Given the description of an element on the screen output the (x, y) to click on. 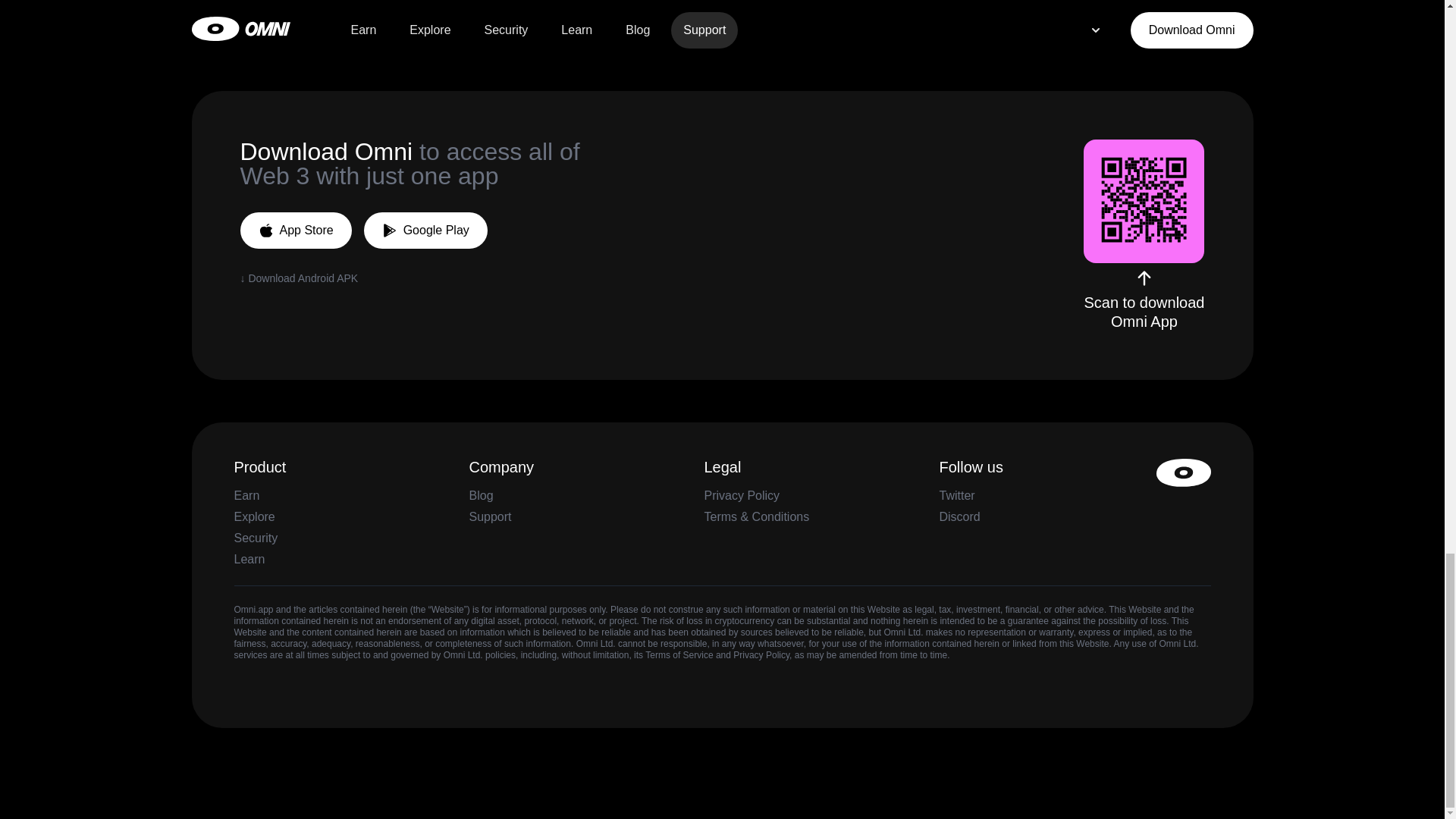
Twitter (956, 495)
App Store (295, 230)
Privacy Policy (740, 495)
Explore (253, 516)
Blog (480, 495)
Privacy Policy (761, 655)
Security (255, 537)
Google Play (425, 230)
Discord (959, 516)
Support (489, 516)
Learn (248, 558)
Earn (245, 495)
Terms of Service (679, 655)
